Given the description of an element on the screen output the (x, y) to click on. 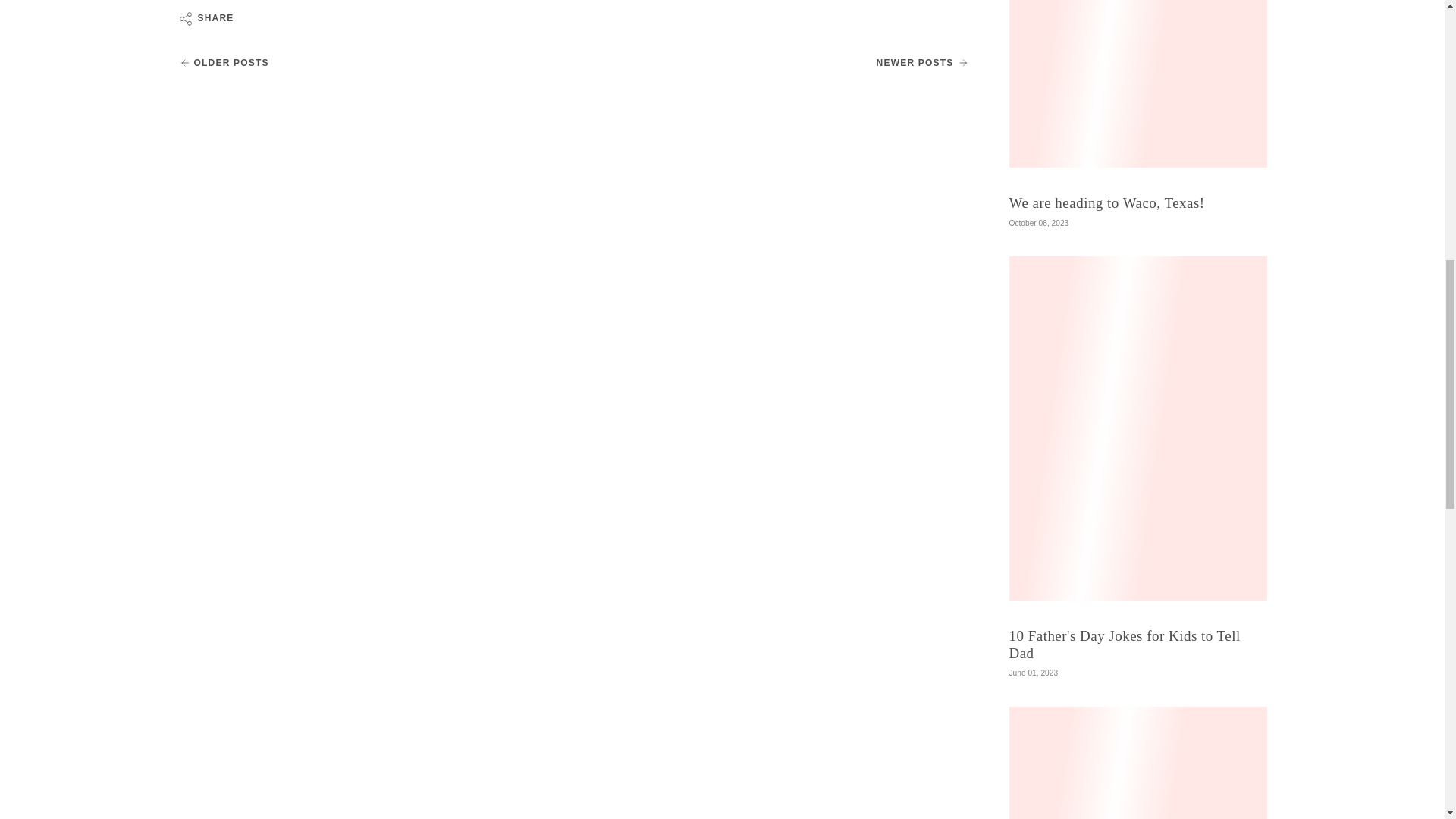
Rethinking Linen Scraps to Make Sustainable Bunting (922, 62)
SHARE (204, 19)
Two years after the House That Lars Built Interview (223, 62)
We are heading to Waco, Texas! (1106, 202)
10 Father's Day Jokes for Kids to Tell Dad (1124, 644)
